Given the description of an element on the screen output the (x, y) to click on. 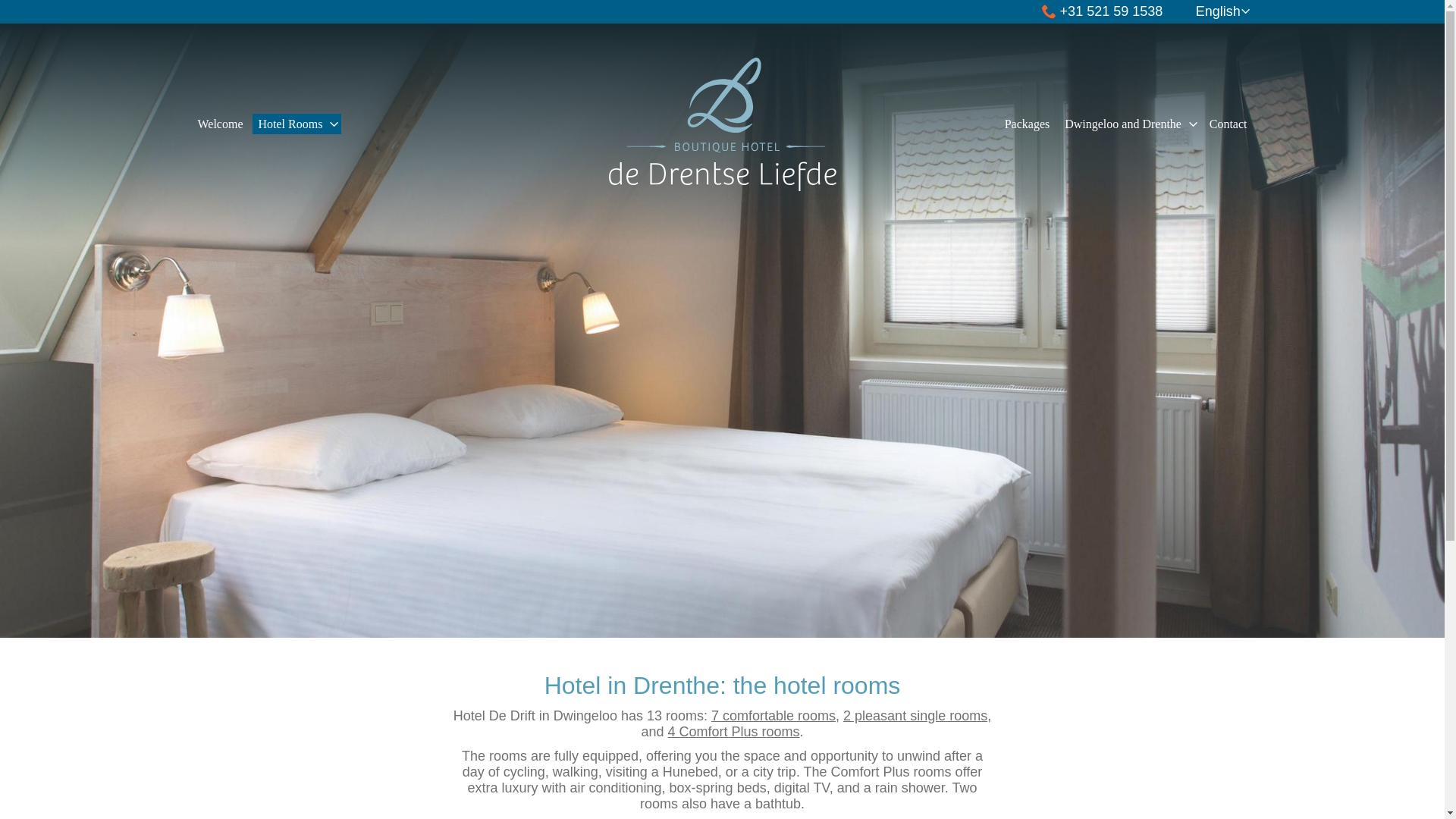
2 pleasant single rooms (915, 715)
Welcome (219, 123)
Dwingeloo and Drenthe (1123, 123)
Contact (1228, 123)
Hotel Rooms (290, 123)
Single Rooms Hotel de Drift (915, 715)
Packages (1027, 123)
4 Comfort Plus rooms (732, 731)
Double Rooms Hotel de Drift (773, 715)
7 comfortable rooms (773, 715)
